Given the description of an element on the screen output the (x, y) to click on. 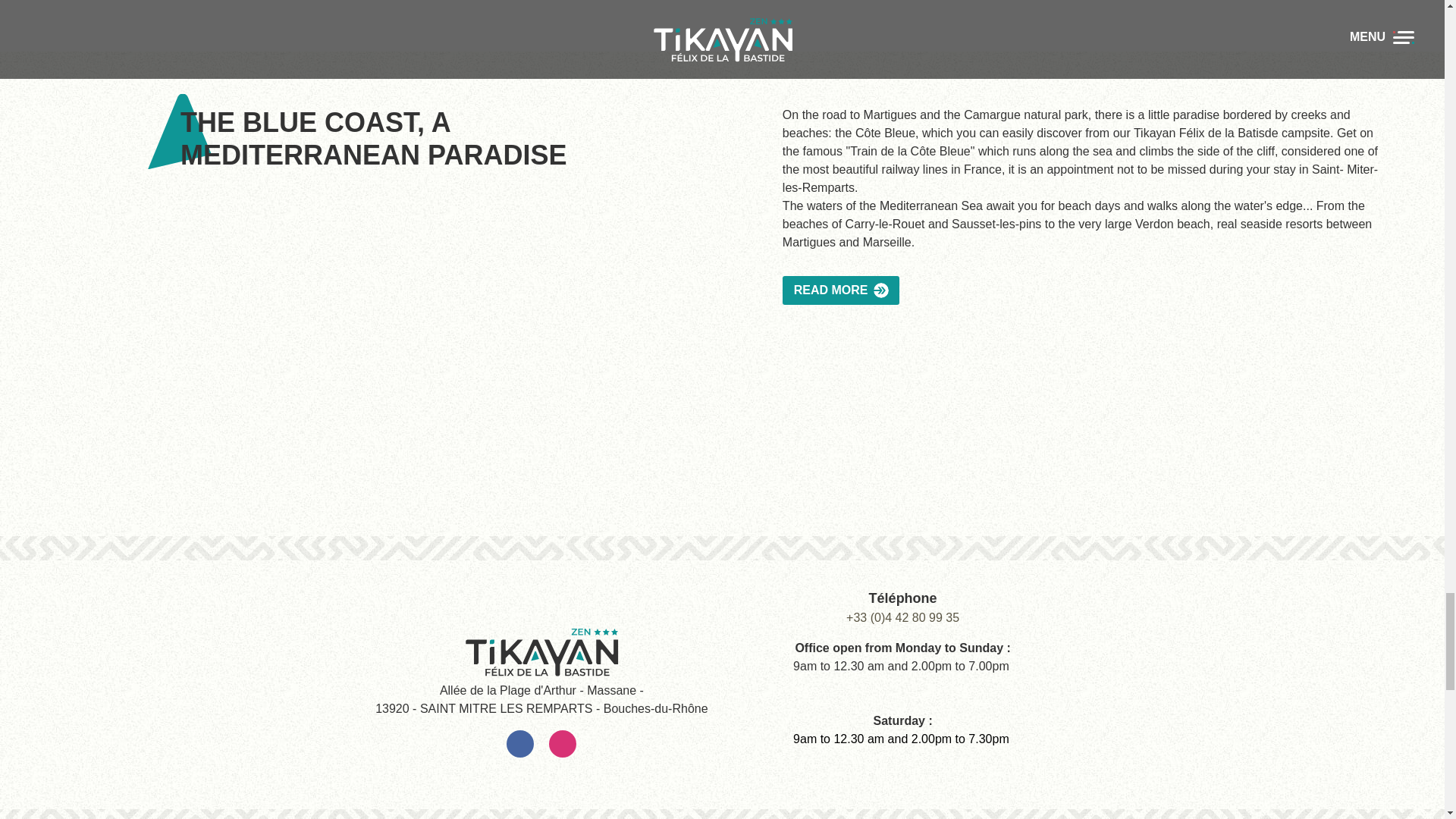
Facebook (520, 743)
Instagram (562, 743)
